Given the description of an element on the screen output the (x, y) to click on. 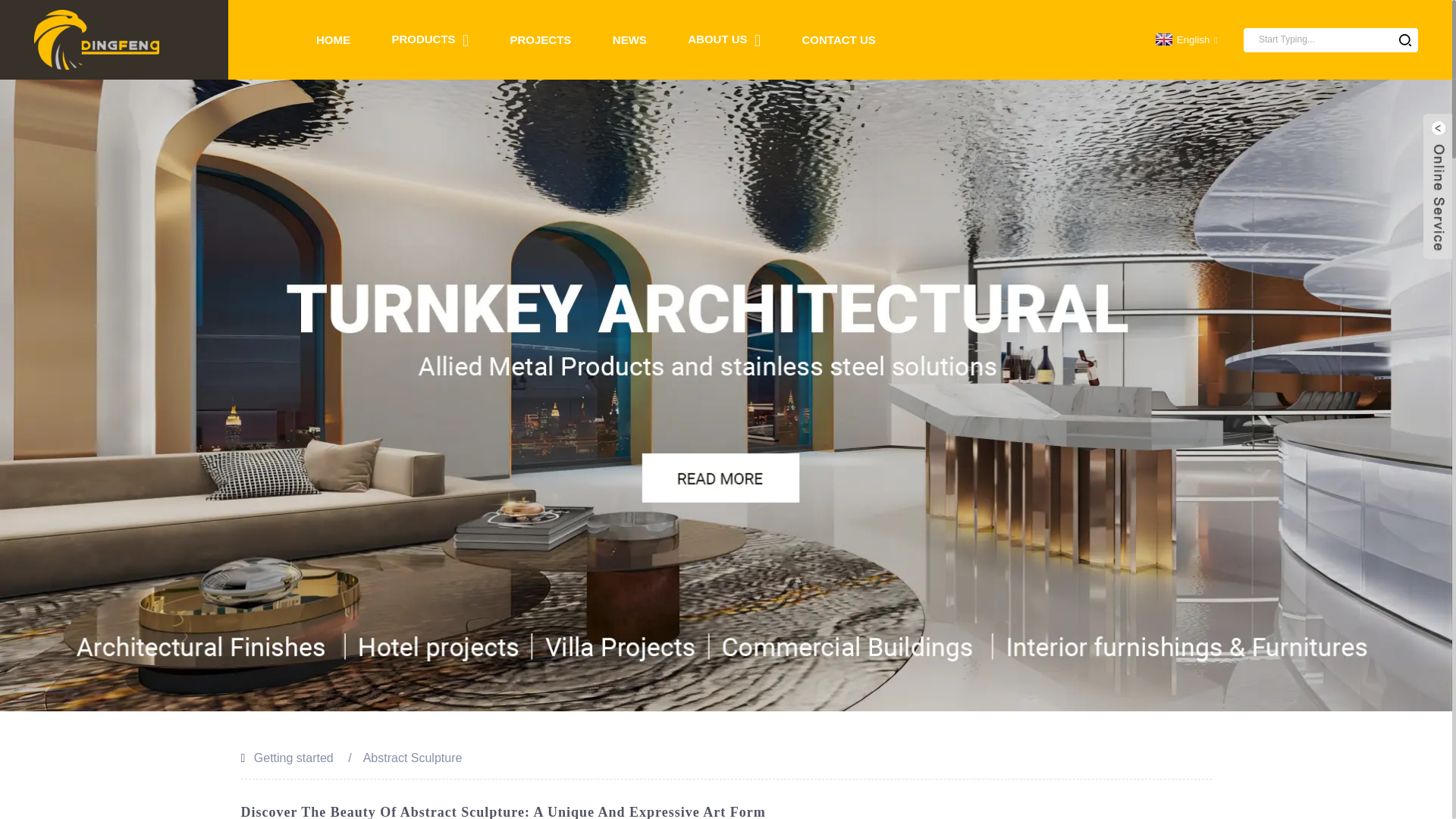
Getting started (293, 757)
English (1184, 39)
PRODUCTS (429, 39)
HOME (333, 39)
CONTACT US (839, 39)
NEWS (629, 39)
ABOUT US (723, 39)
PROJECTS (541, 39)
Abstract Sculpture (412, 757)
